Given the description of an element on the screen output the (x, y) to click on. 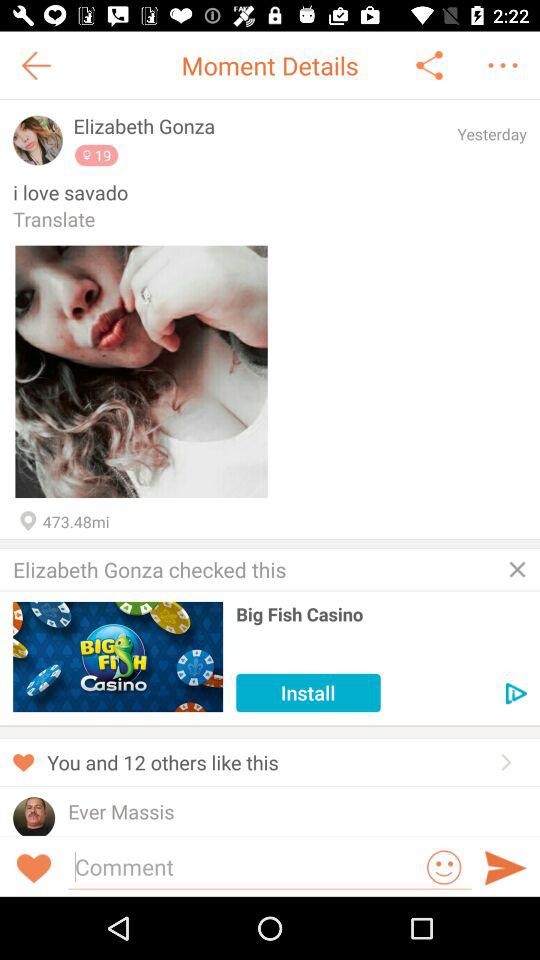
jump to quelinda icon (104, 832)
